Given the description of an element on the screen output the (x, y) to click on. 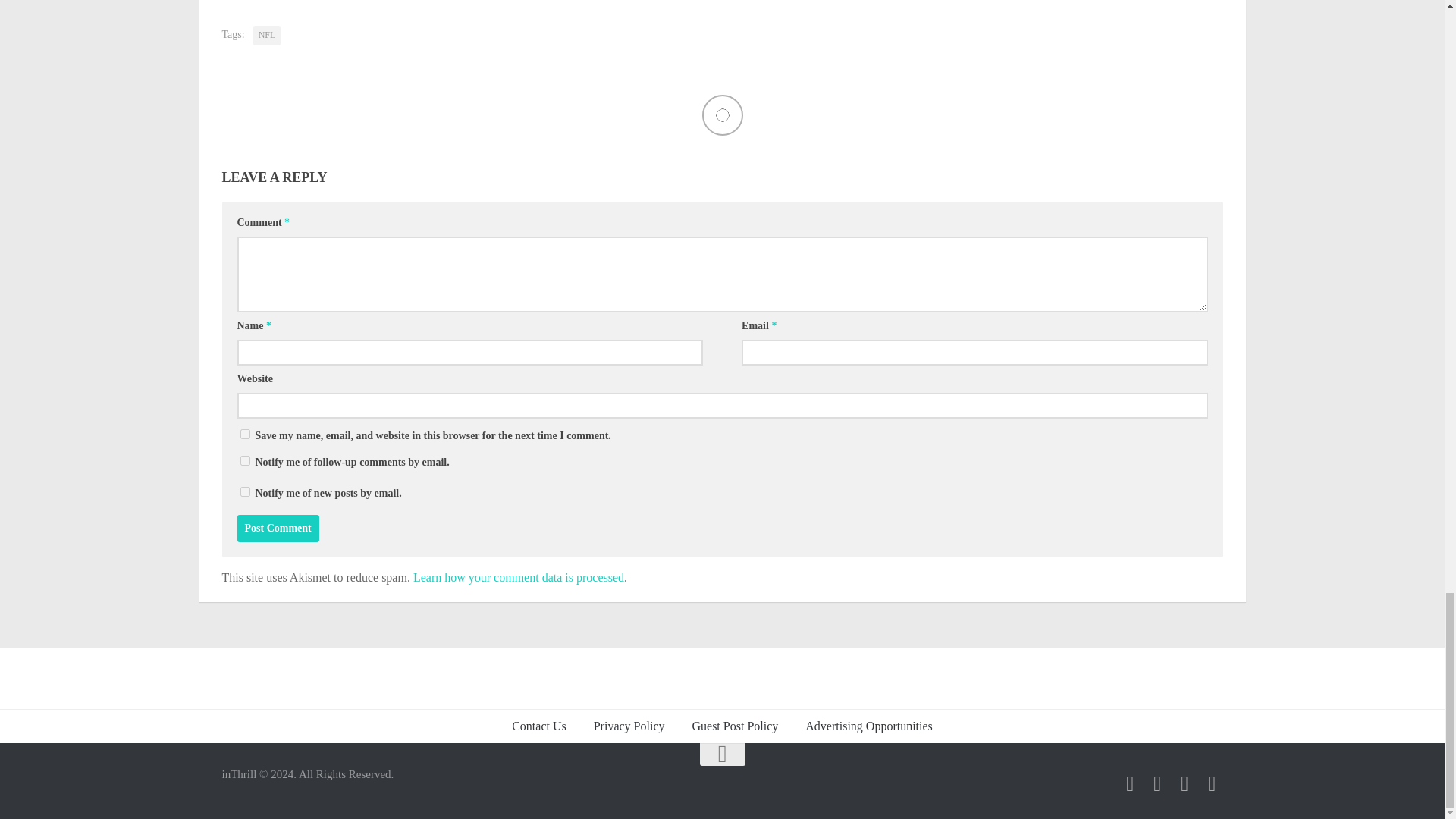
Learn how your comment data is processed (518, 576)
yes (244, 433)
Post Comment (276, 528)
Advertising Opportunities (869, 726)
subscribe (244, 491)
NFL (267, 35)
Follow us on Twitter (1129, 783)
Post Comment (276, 528)
Follow us on Youtube (1212, 783)
Guest Post Policy (735, 726)
